Given the description of an element on the screen output the (x, y) to click on. 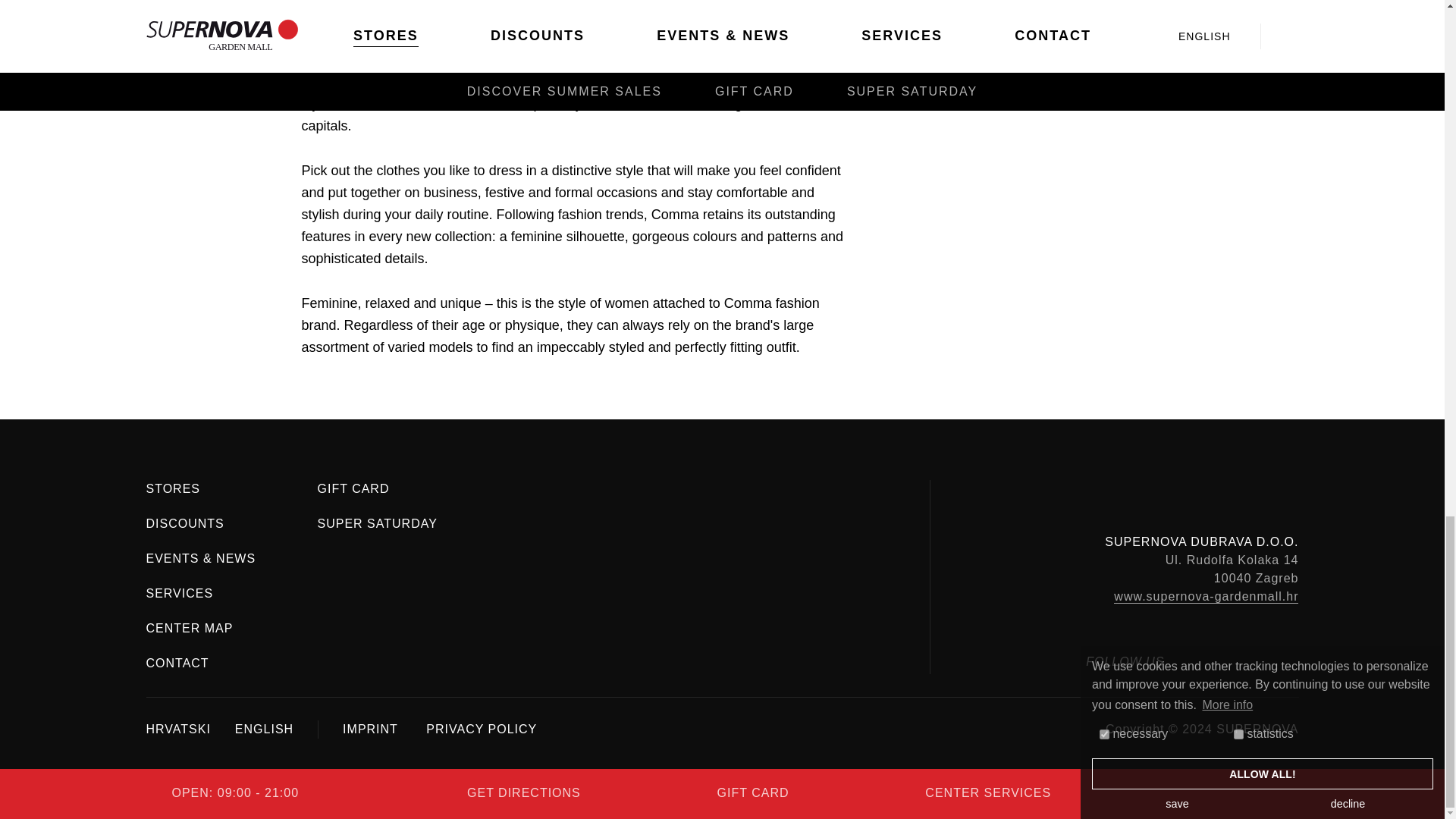
Discounts (184, 522)
Stores (172, 488)
Contact (176, 662)
Services (178, 592)
Center map (188, 627)
www.supernova-gardenmall.hr (1205, 595)
